Given the description of an element on the screen output the (x, y) to click on. 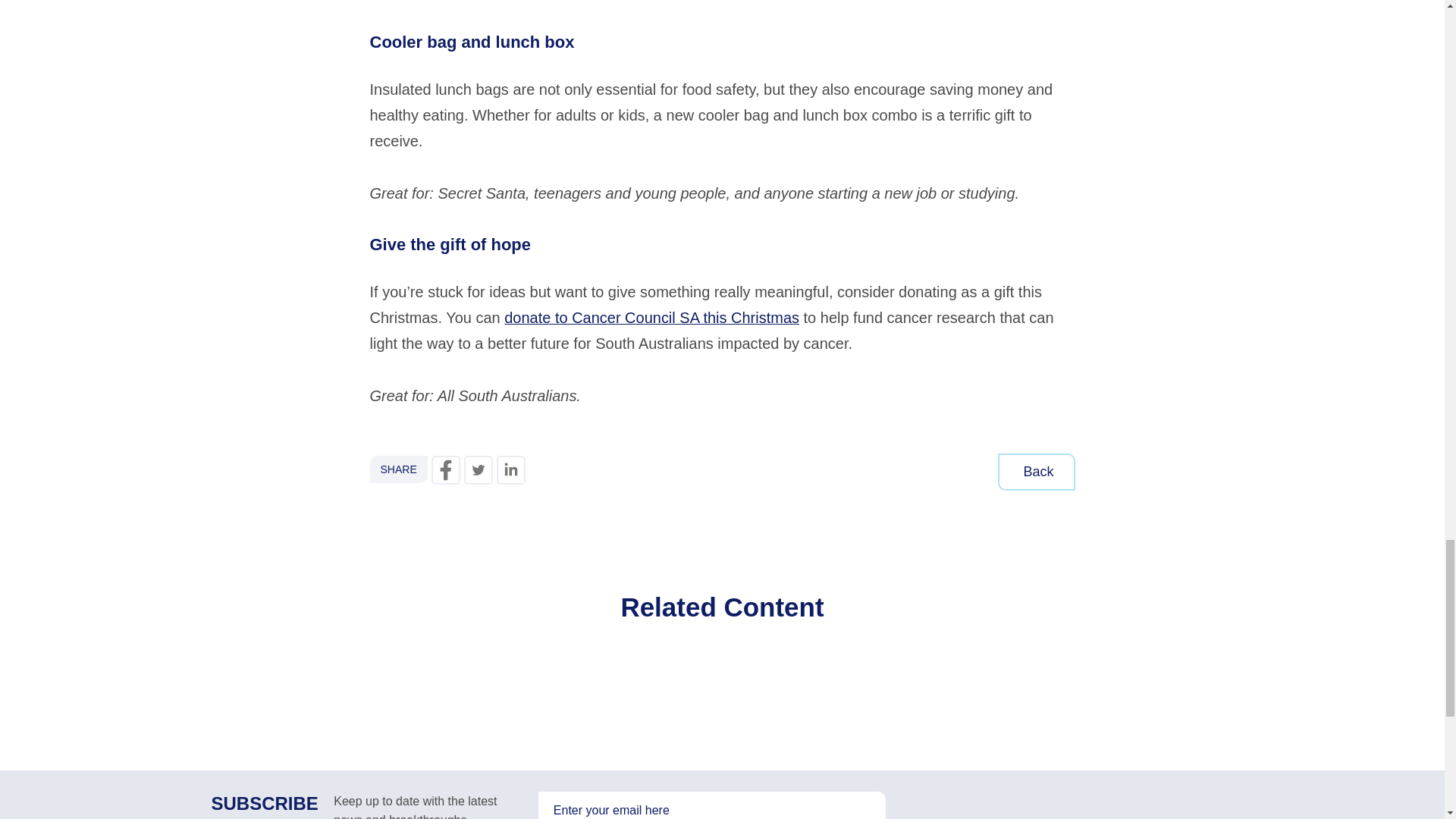
Share on LinkedIn (510, 469)
Share on Facebook (445, 469)
Share on Twitter (478, 469)
